Given the description of an element on the screen output the (x, y) to click on. 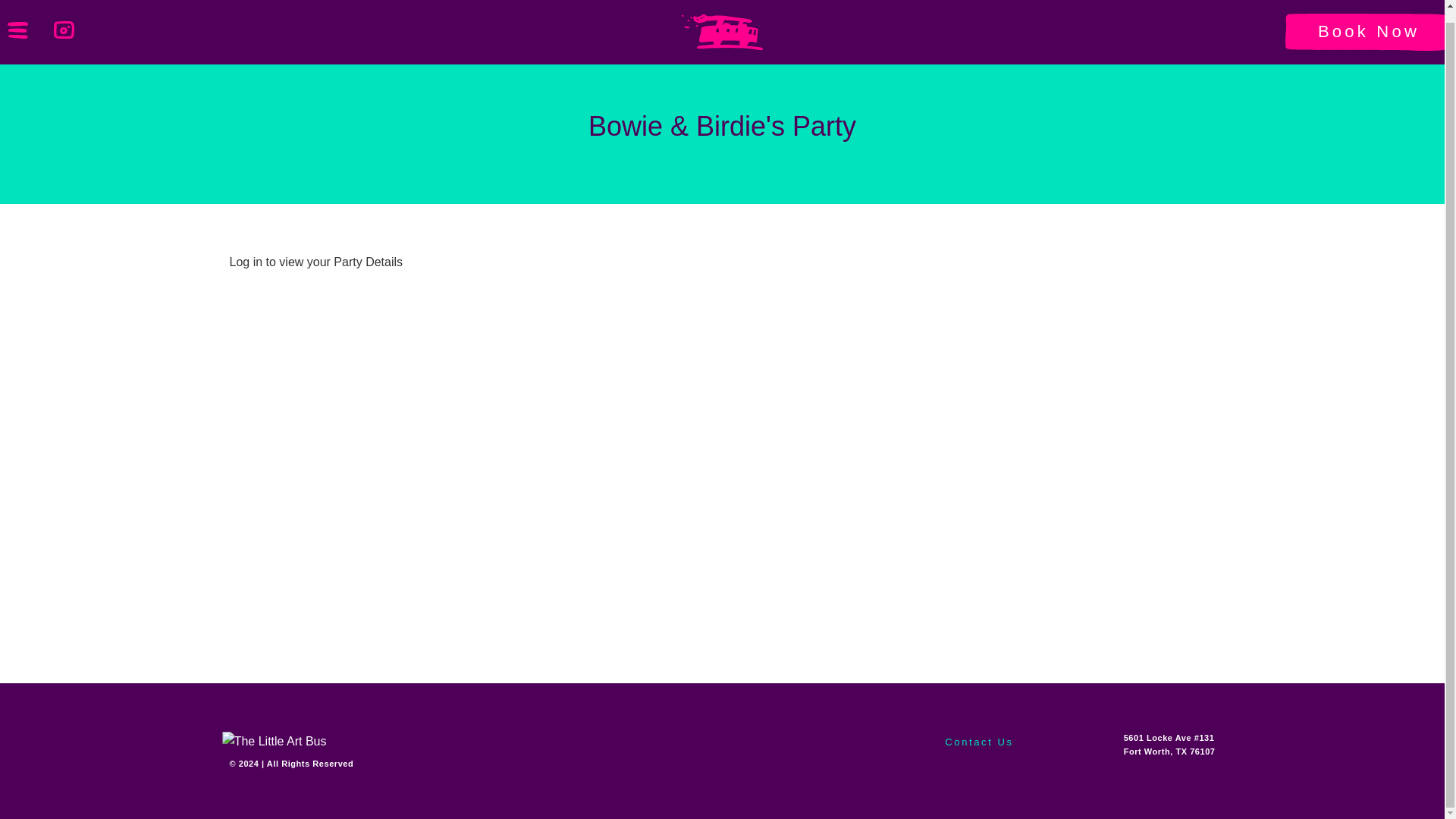
Menu (28, 20)
Log in to view your Party Details (315, 261)
Contact Us (978, 746)
Instagram (75, 21)
